Given the description of an element on the screen output the (x, y) to click on. 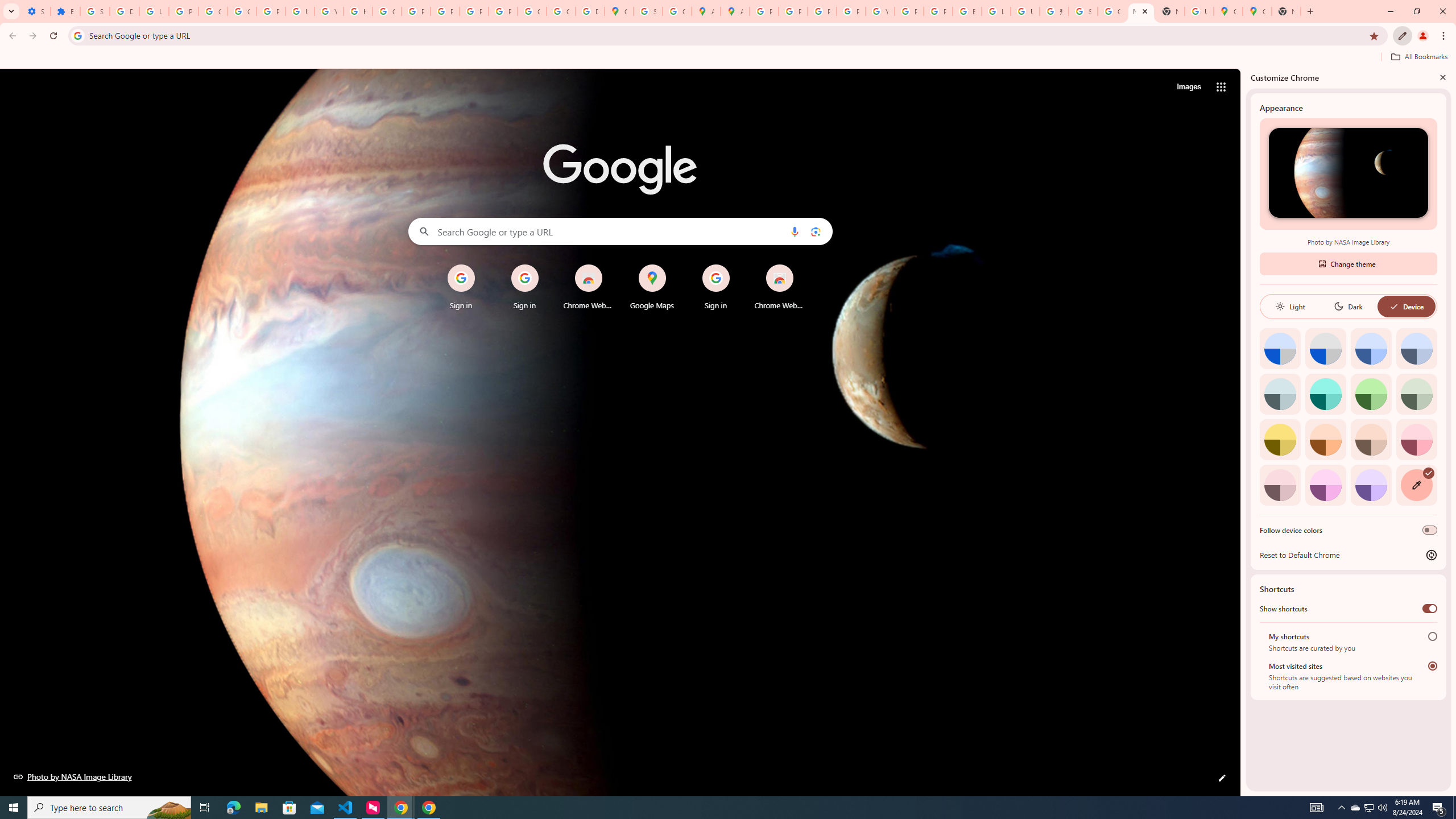
New Tab (1169, 11)
Fuchsia (1325, 484)
Follow device colors (1429, 529)
Apricot (1371, 439)
Create your Google Account (677, 11)
YouTube (879, 11)
